Given the description of an element on the screen output the (x, y) to click on. 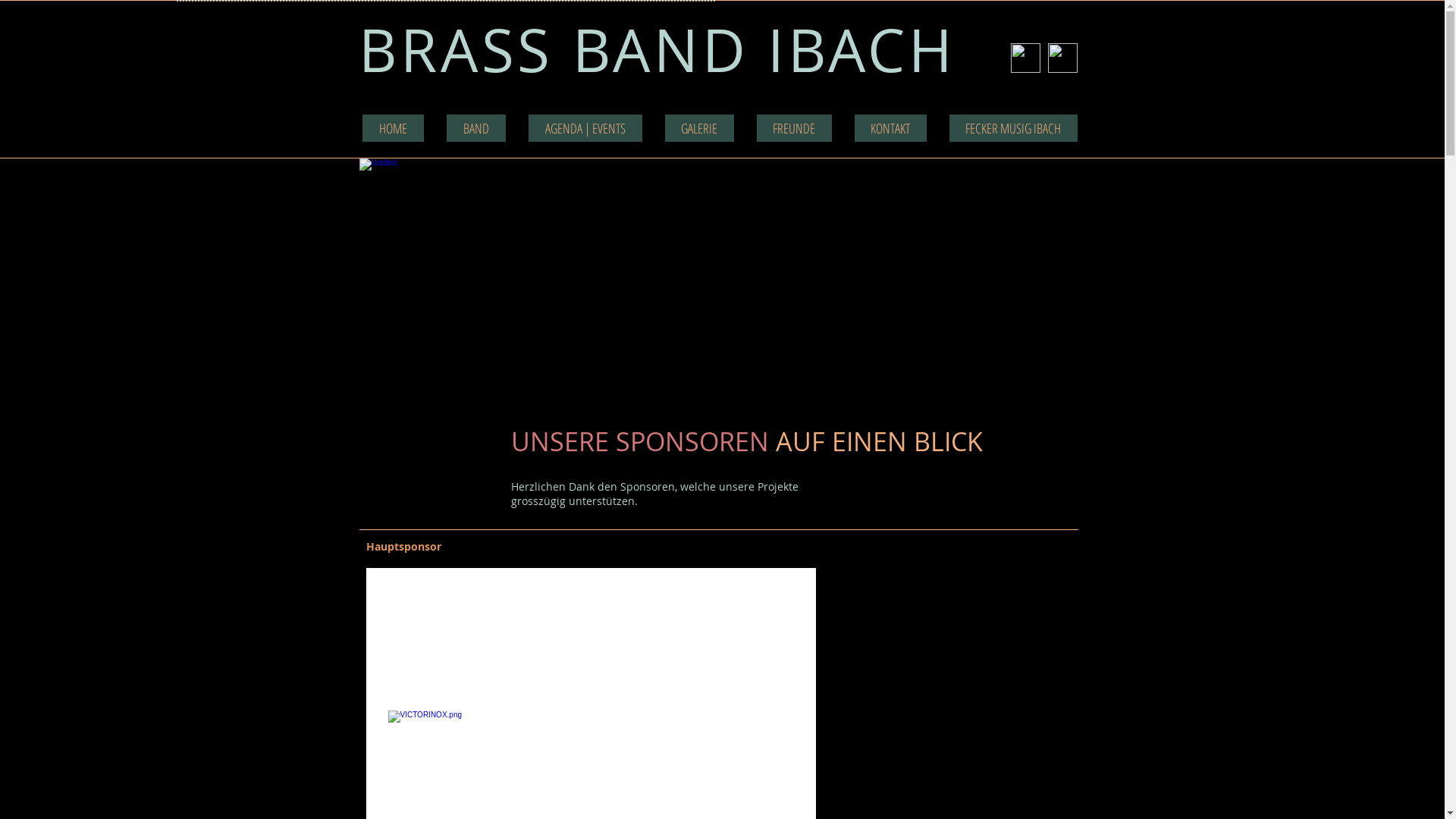
AGENDA | EVENTS Element type: text (584, 127)
BAND Element type: text (475, 127)
Hauptsponsor Element type: text (402, 546)
FECKER MUSIG IBACH Element type: text (1013, 127)
GALERIE Element type: text (698, 127)
KONTAKT Element type: text (889, 127)
HOME Element type: text (392, 127)
FREUNDE Element type: text (793, 127)
BRASS BAND IBACH Element type: text (656, 49)
